Given the description of an element on the screen output the (x, y) to click on. 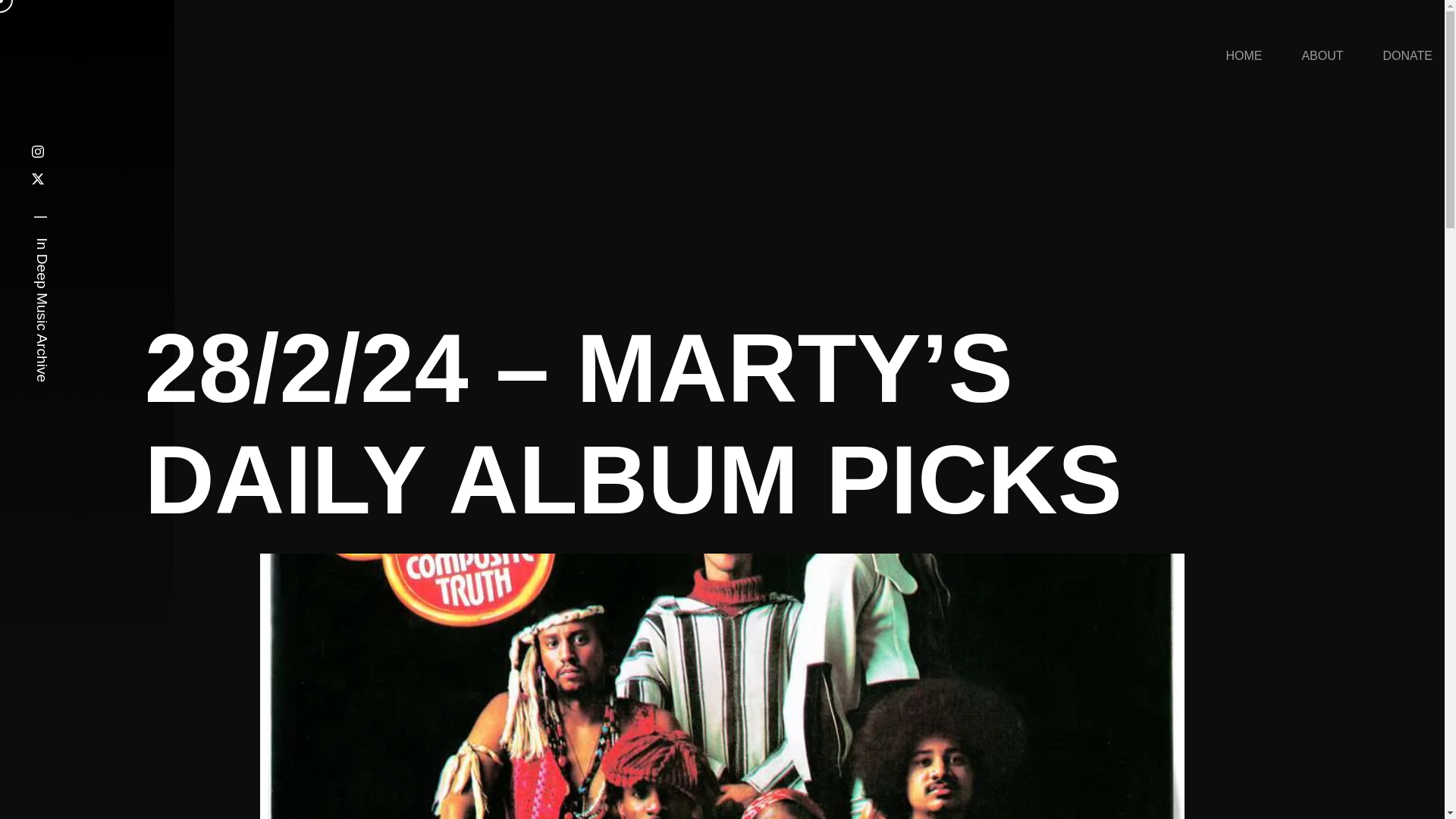
HOME (1244, 55)
ABOUT (1323, 55)
